Given the description of an element on the screen output the (x, y) to click on. 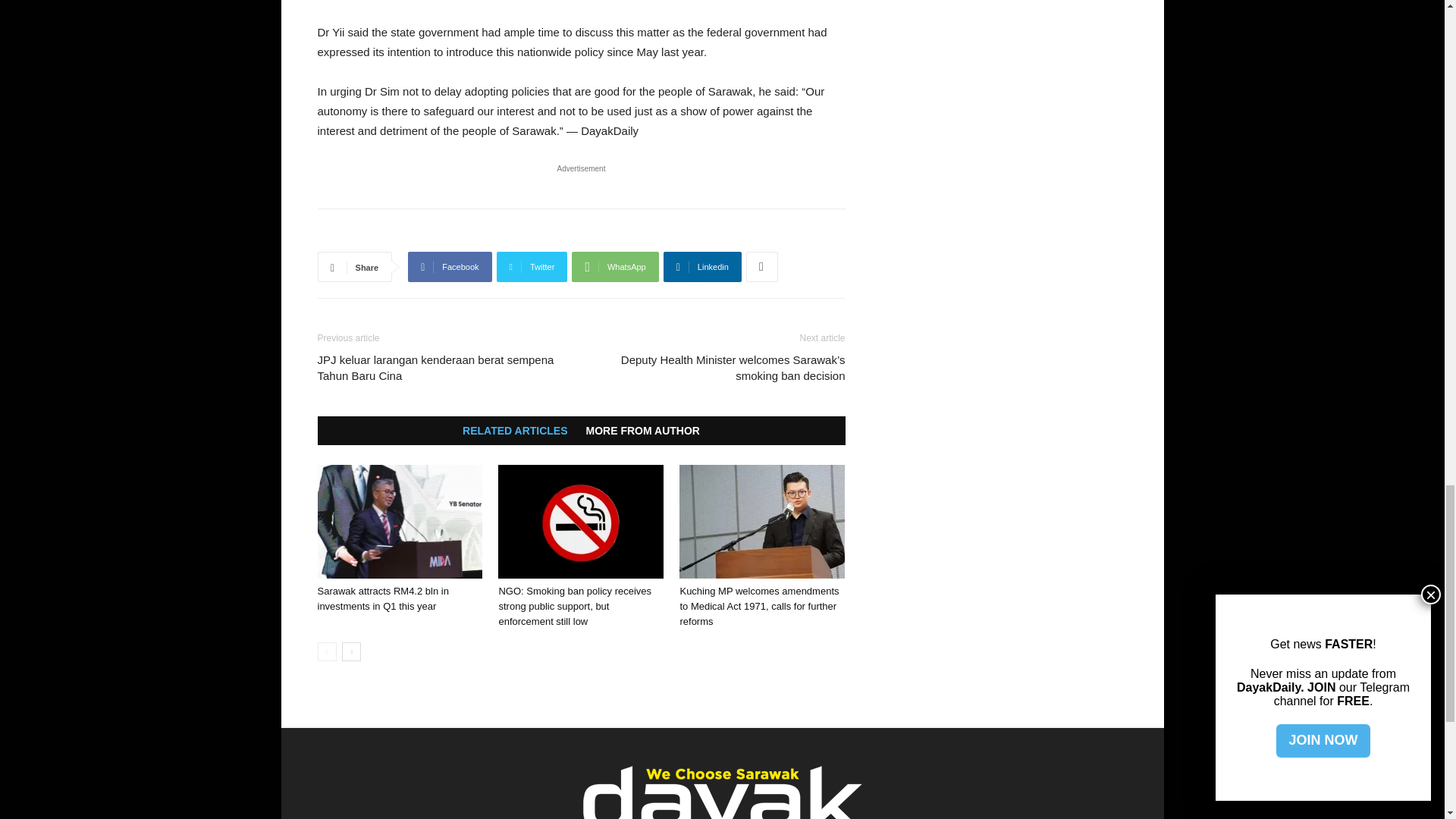
Facebook (449, 266)
Linkedin (702, 266)
WhatsApp (615, 266)
Twitter (531, 266)
